Given the description of an element on the screen output the (x, y) to click on. 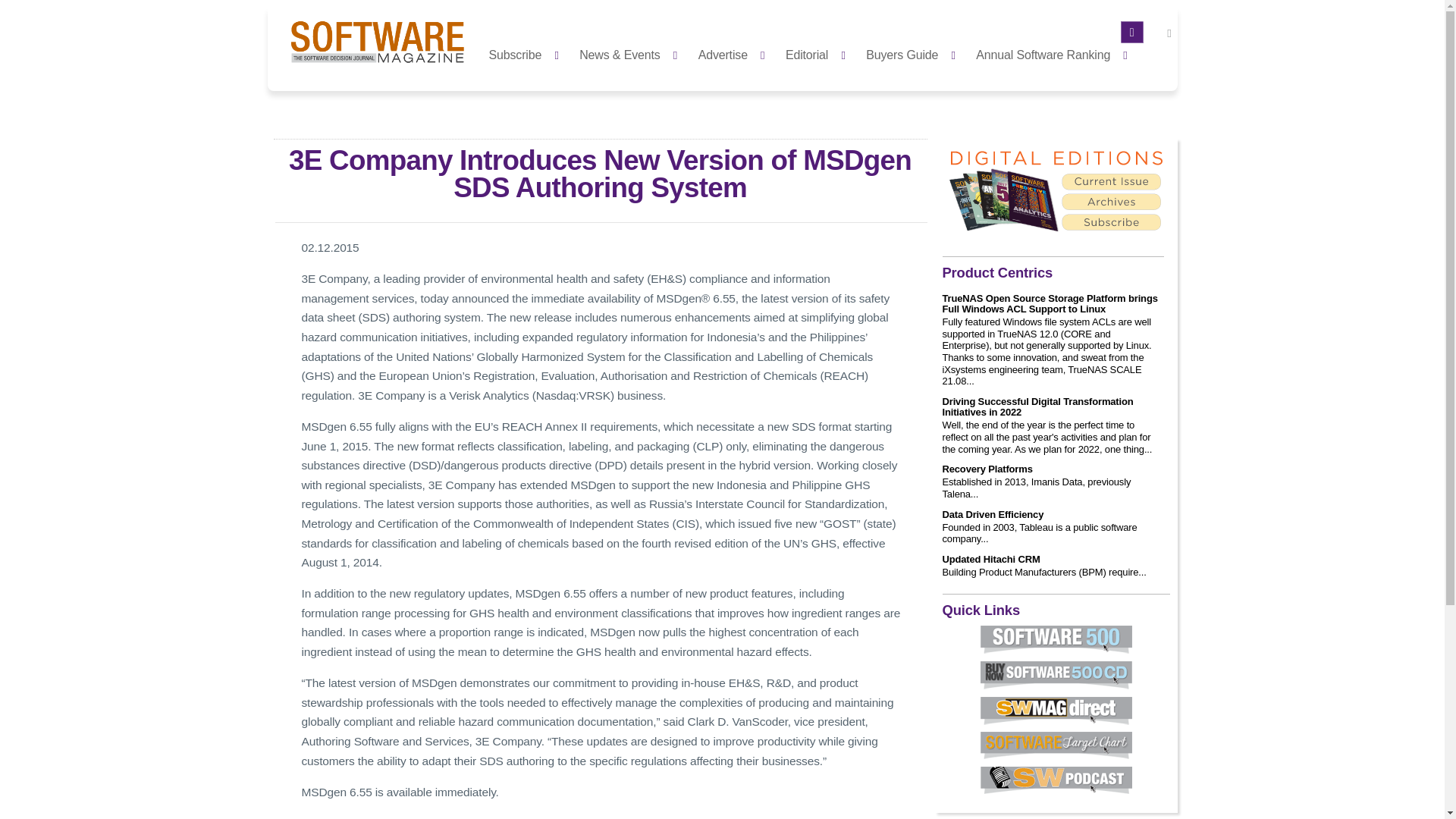
Data Driven Efficiency (992, 514)
Annual Software Ranking (1056, 53)
Editorial (819, 53)
Buyers Guide (915, 53)
Advertise (735, 53)
Recovery Platforms (987, 469)
Subscribe (527, 53)
Updated Hitachi CRM (990, 559)
